Given the description of an element on the screen output the (x, y) to click on. 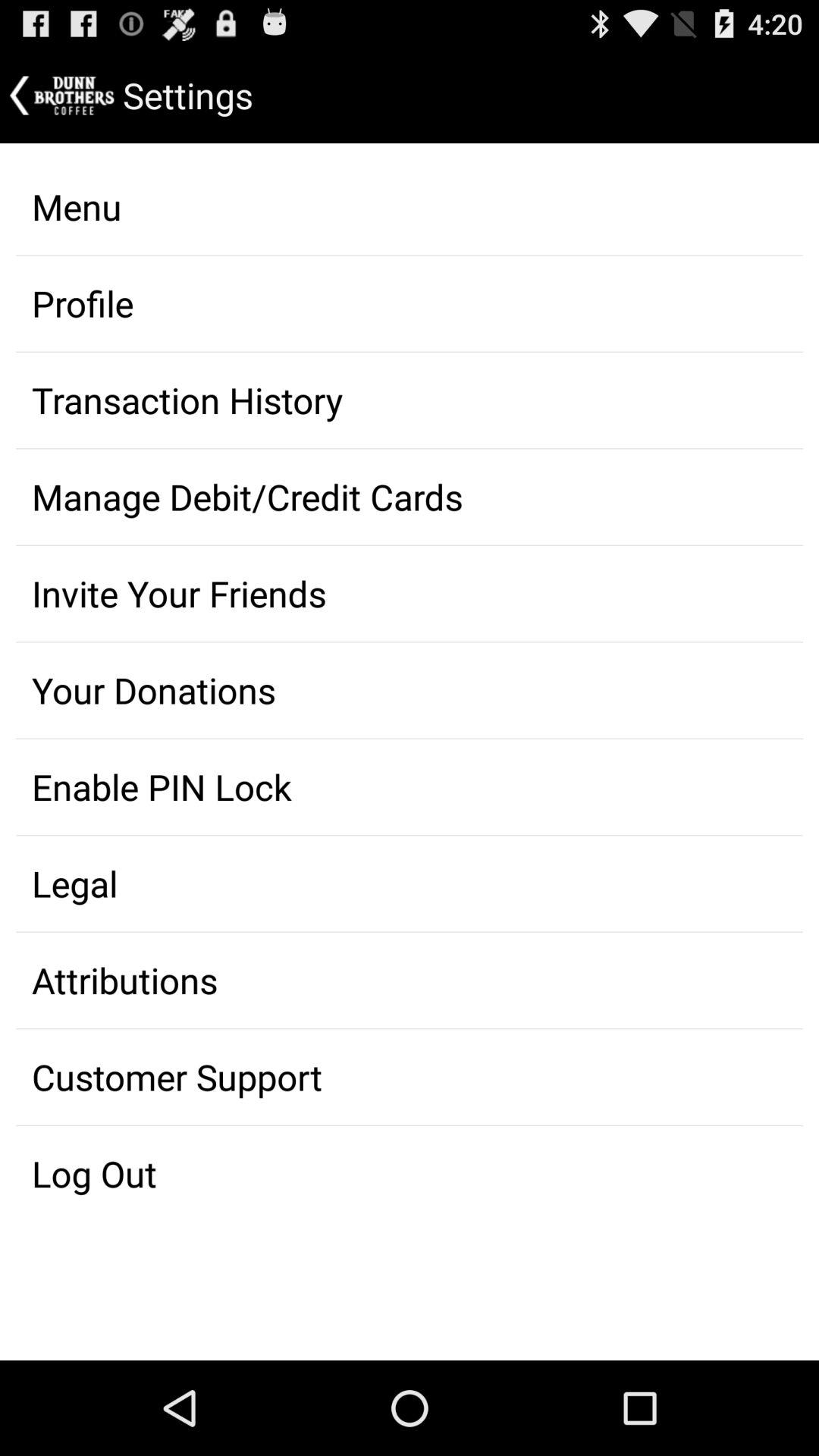
jump to attributions (409, 980)
